Given the description of an element on the screen output the (x, y) to click on. 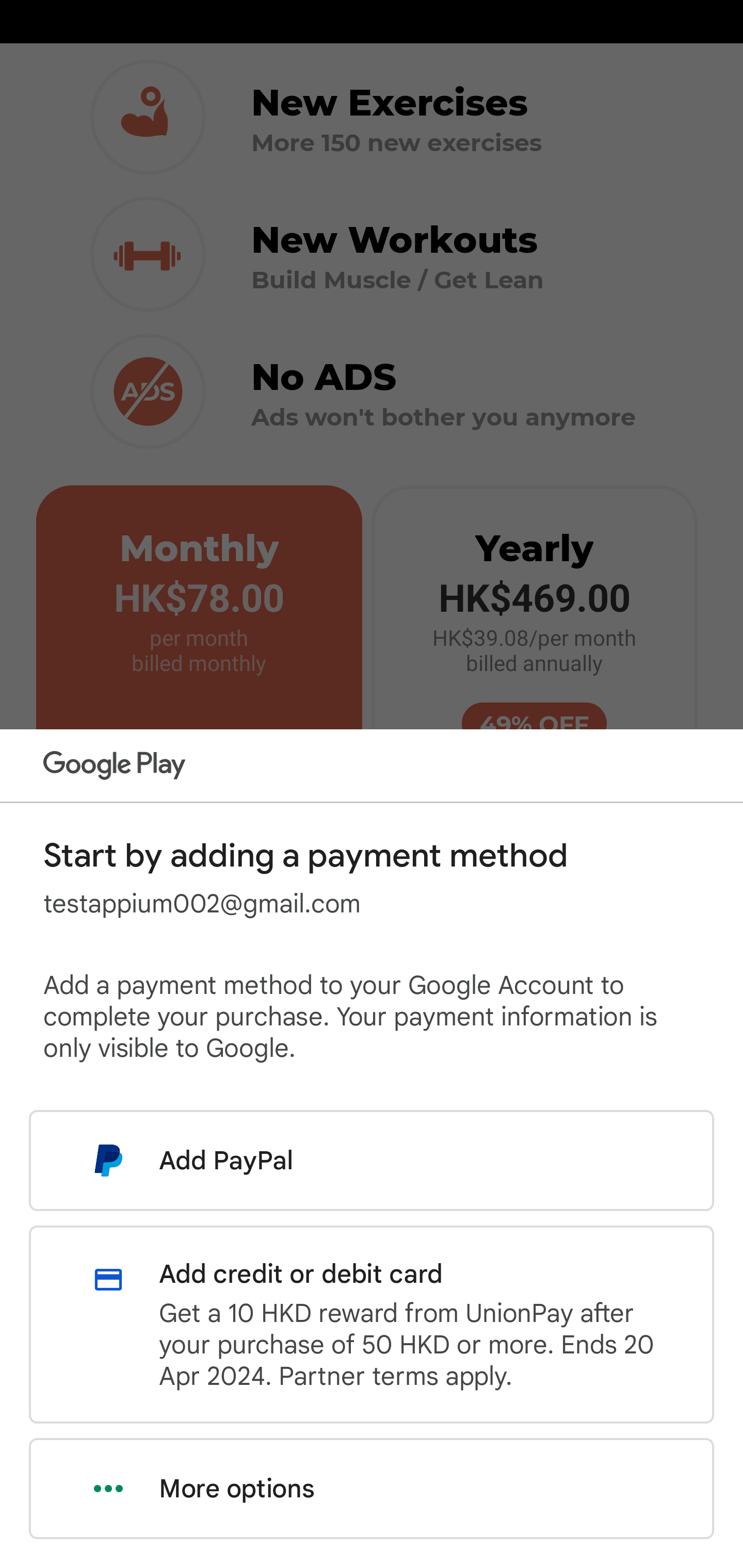
Add PayPal (371, 1160)
More options (371, 1488)
